Given the description of an element on the screen output the (x, y) to click on. 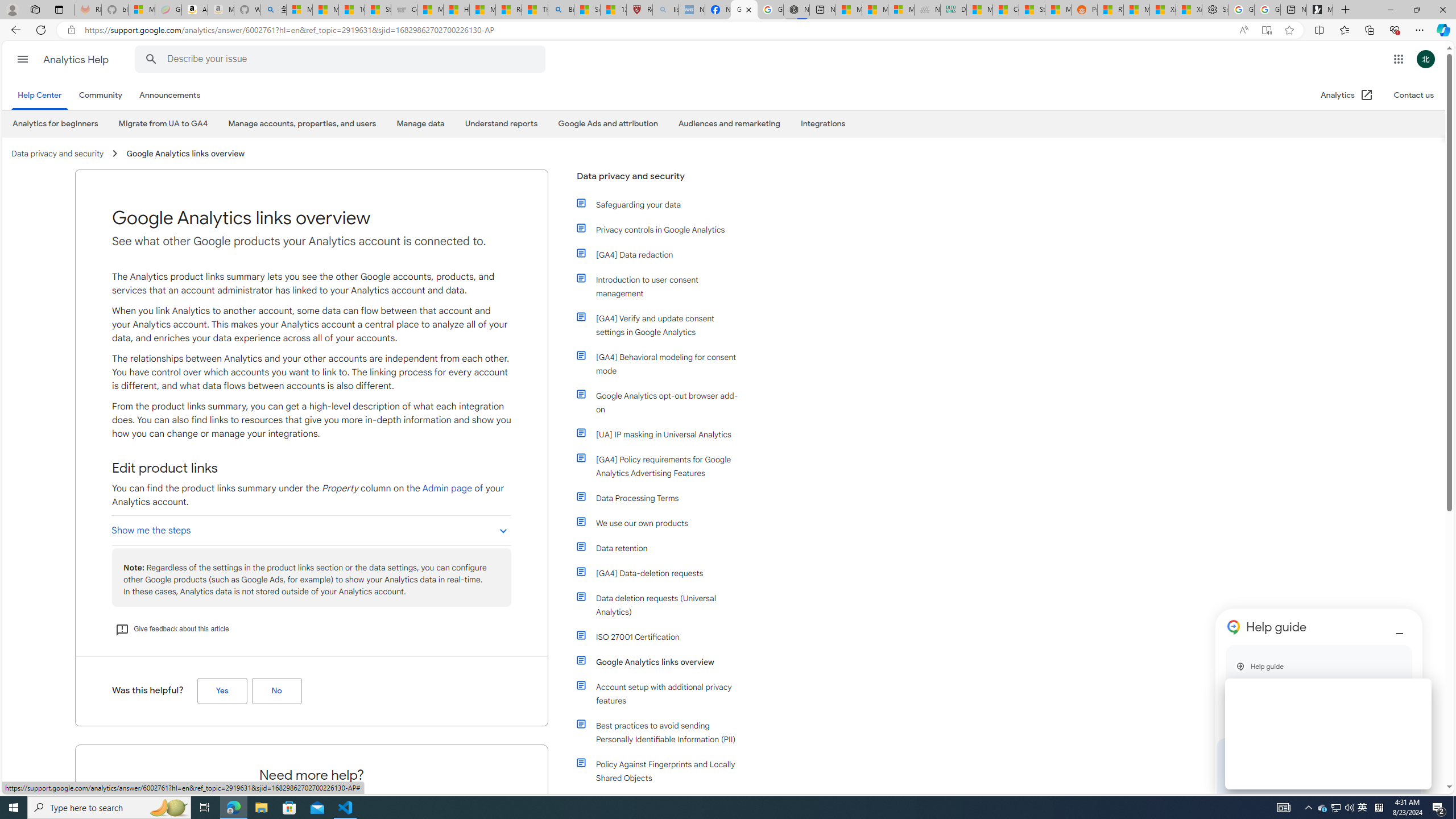
Data retention (658, 548)
[GA4] Behavioral modeling for consent mode (664, 363)
Navy Quest (927, 9)
Data Processing Terms (664, 498)
Integrations (823, 123)
Account setup with additional privacy features (664, 693)
[GA4] Data redaction (658, 254)
Class: article (580, 762)
How I Got Rid of Microsoft Edge's Unnecessary Features (456, 9)
